Given the description of an element on the screen output the (x, y) to click on. 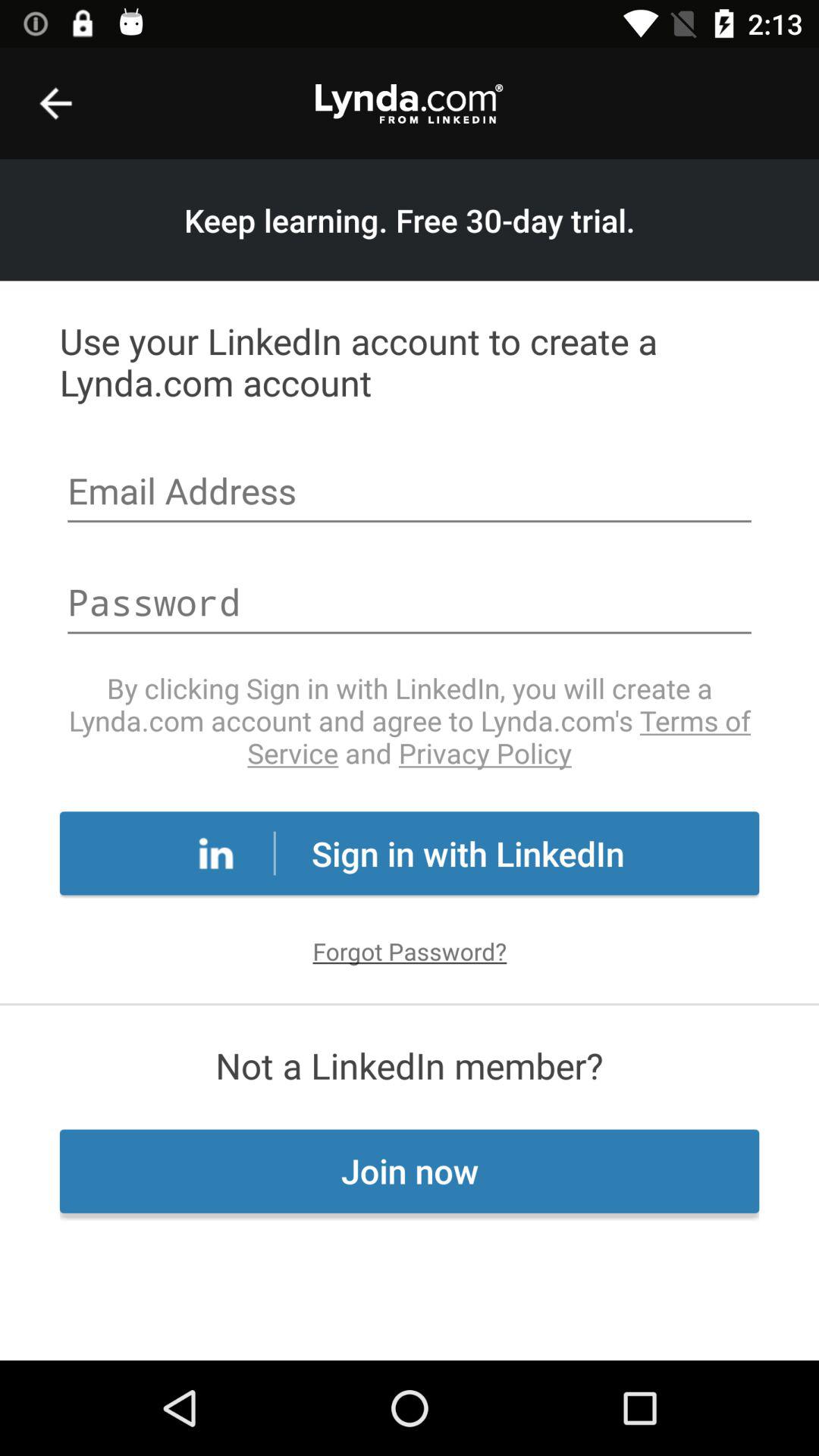
tap forgot password? icon (409, 951)
